Given the description of an element on the screen output the (x, y) to click on. 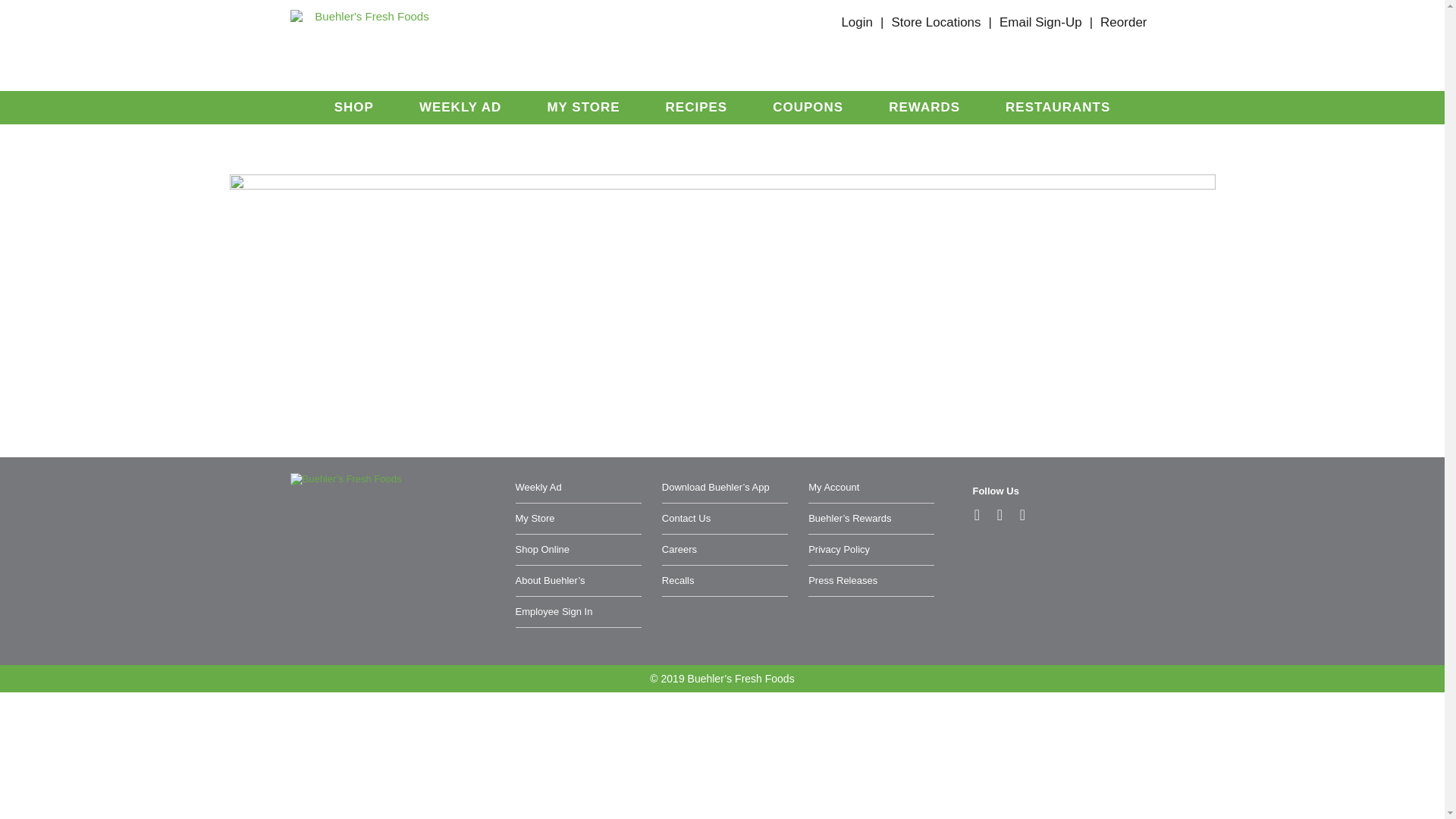
SHOP (353, 106)
MY STORE (582, 106)
WEEKLY AD (460, 106)
Login (856, 22)
REWARDS (924, 106)
Facebook (976, 514)
RESTAURANTS (1057, 106)
Reorder (1123, 22)
COUPONS (808, 106)
Email Sign-Up (1039, 22)
Instagram (1021, 514)
RECIPES (696, 106)
Store Locations (935, 22)
Pinterest (999, 514)
